Given the description of an element on the screen output the (x, y) to click on. 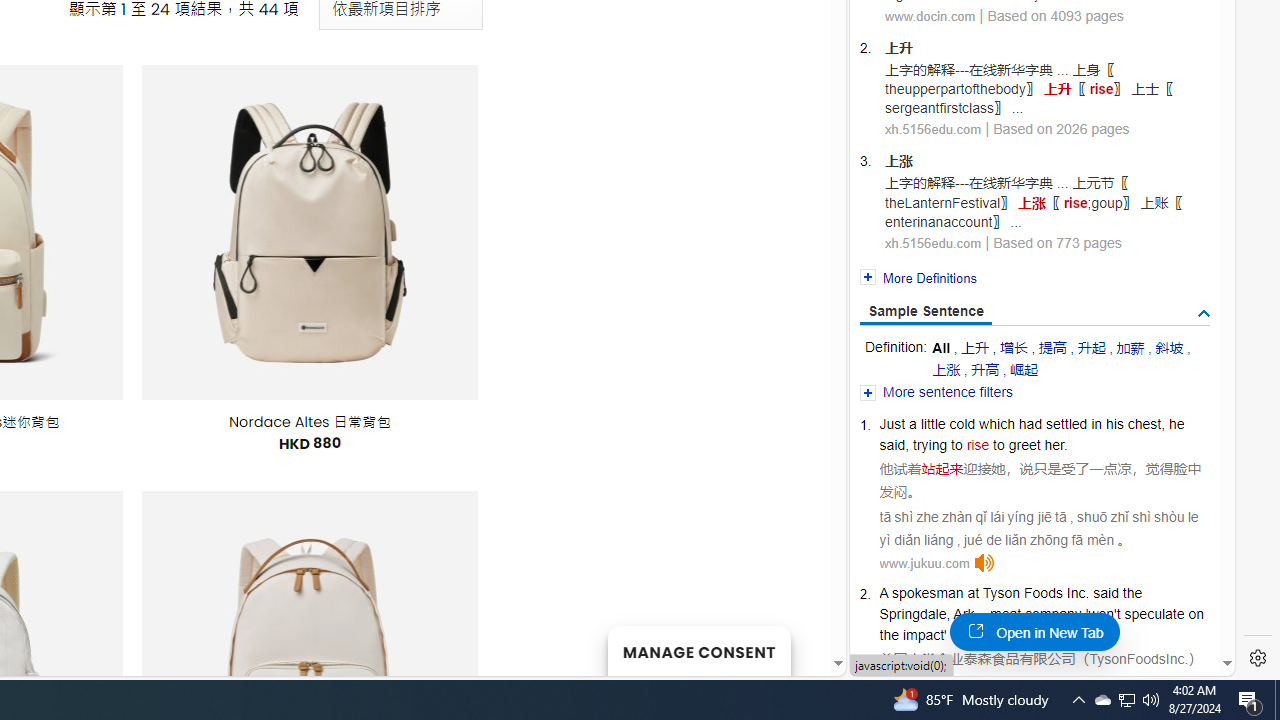
meat (1005, 614)
a little (926, 424)
in (1096, 424)
on (1195, 614)
Tyson (1001, 592)
. (1186, 658)
yuan (992, 634)
